Given the description of an element on the screen output the (x, y) to click on. 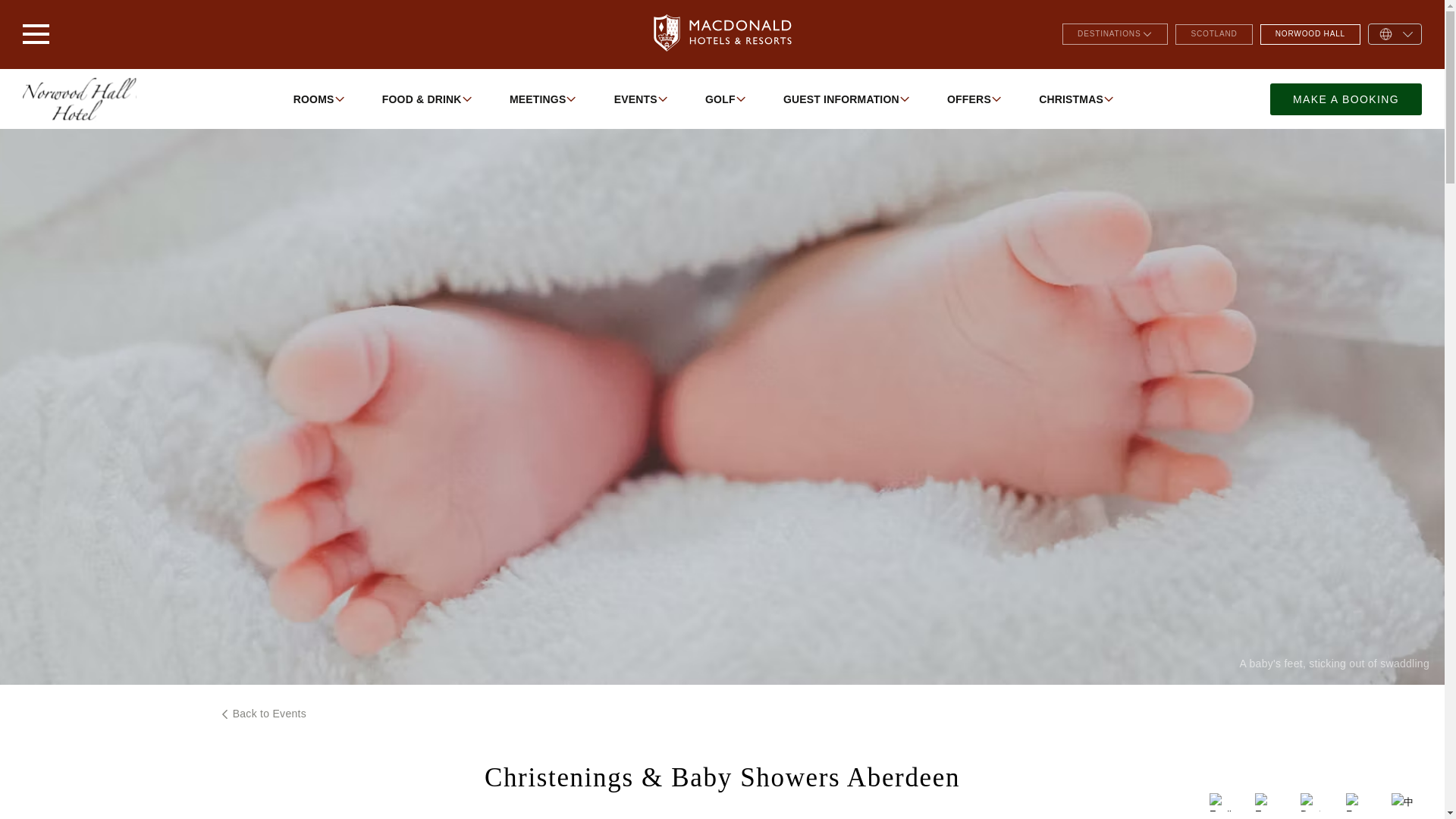
EVENTS (640, 98)
DESTINATIONS (1115, 33)
MEETINGS (542, 98)
SCOTLAND (1213, 33)
ROOMS (318, 98)
